Given the description of an element on the screen output the (x, y) to click on. 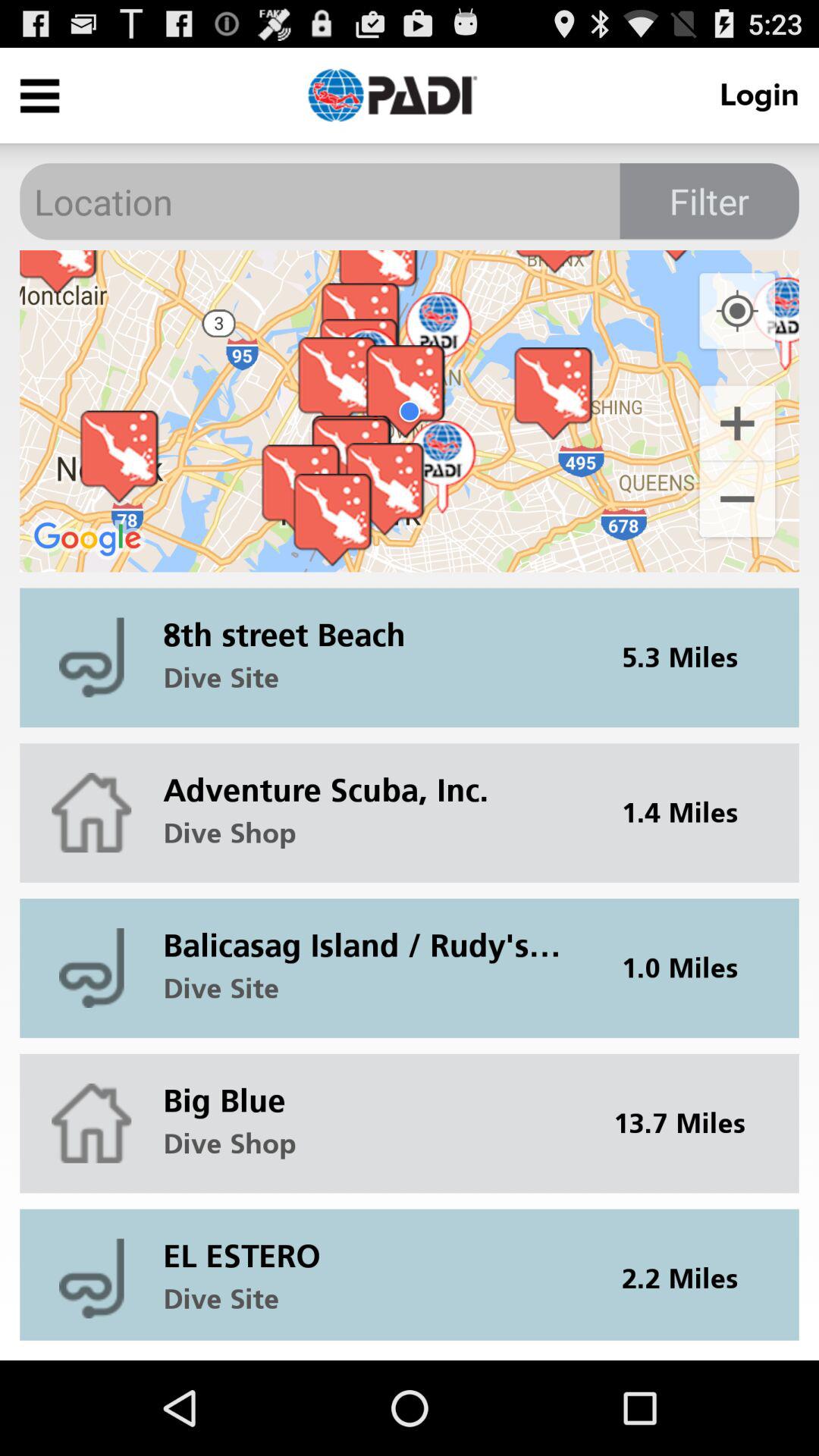
open menu (39, 95)
